Given the description of an element on the screen output the (x, y) to click on. 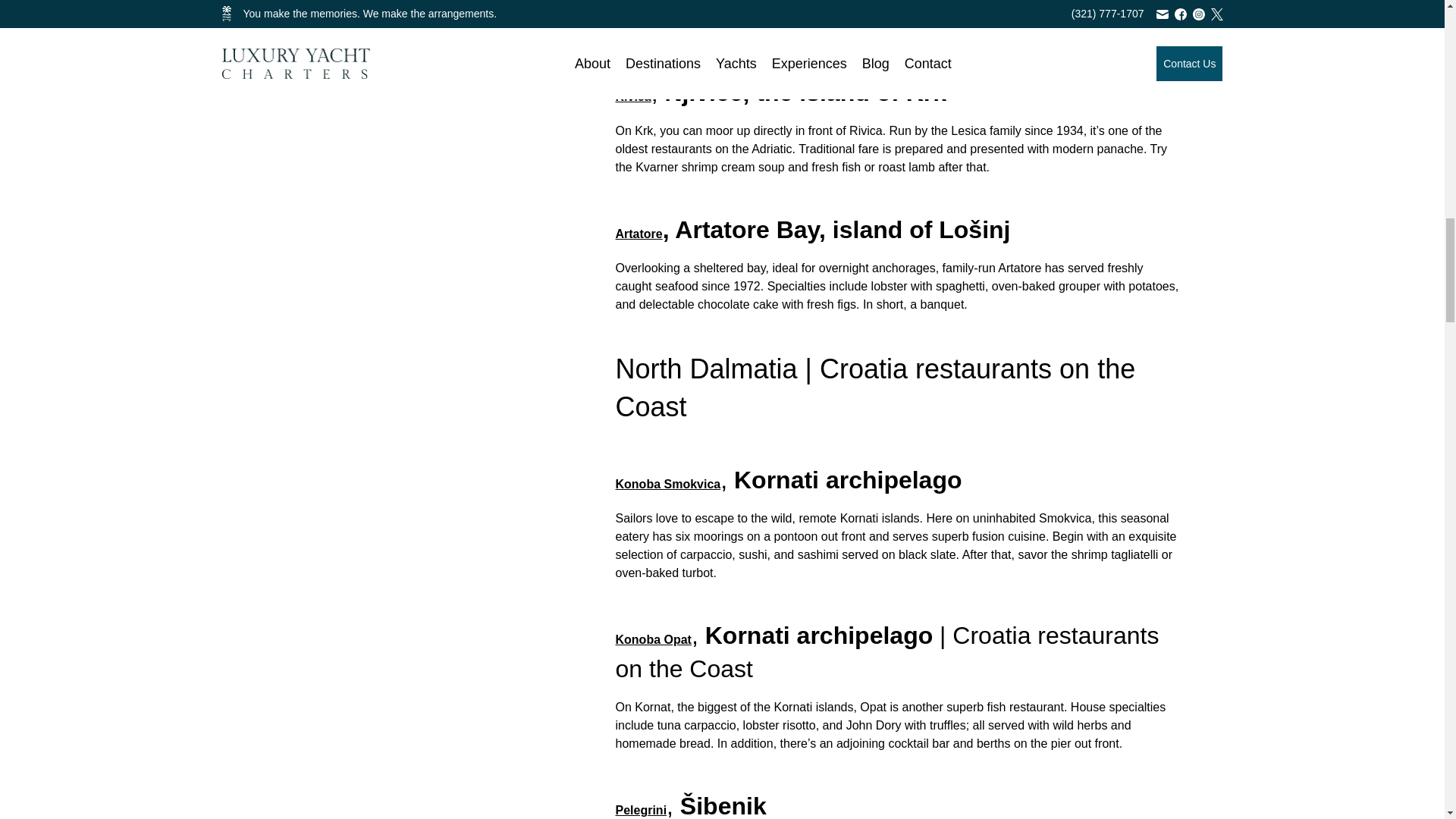
Rivica (632, 96)
Artatore (638, 233)
Pelegrini (640, 809)
Konoba Smokvica (667, 483)
Konoba Opat (653, 639)
